Given the description of an element on the screen output the (x, y) to click on. 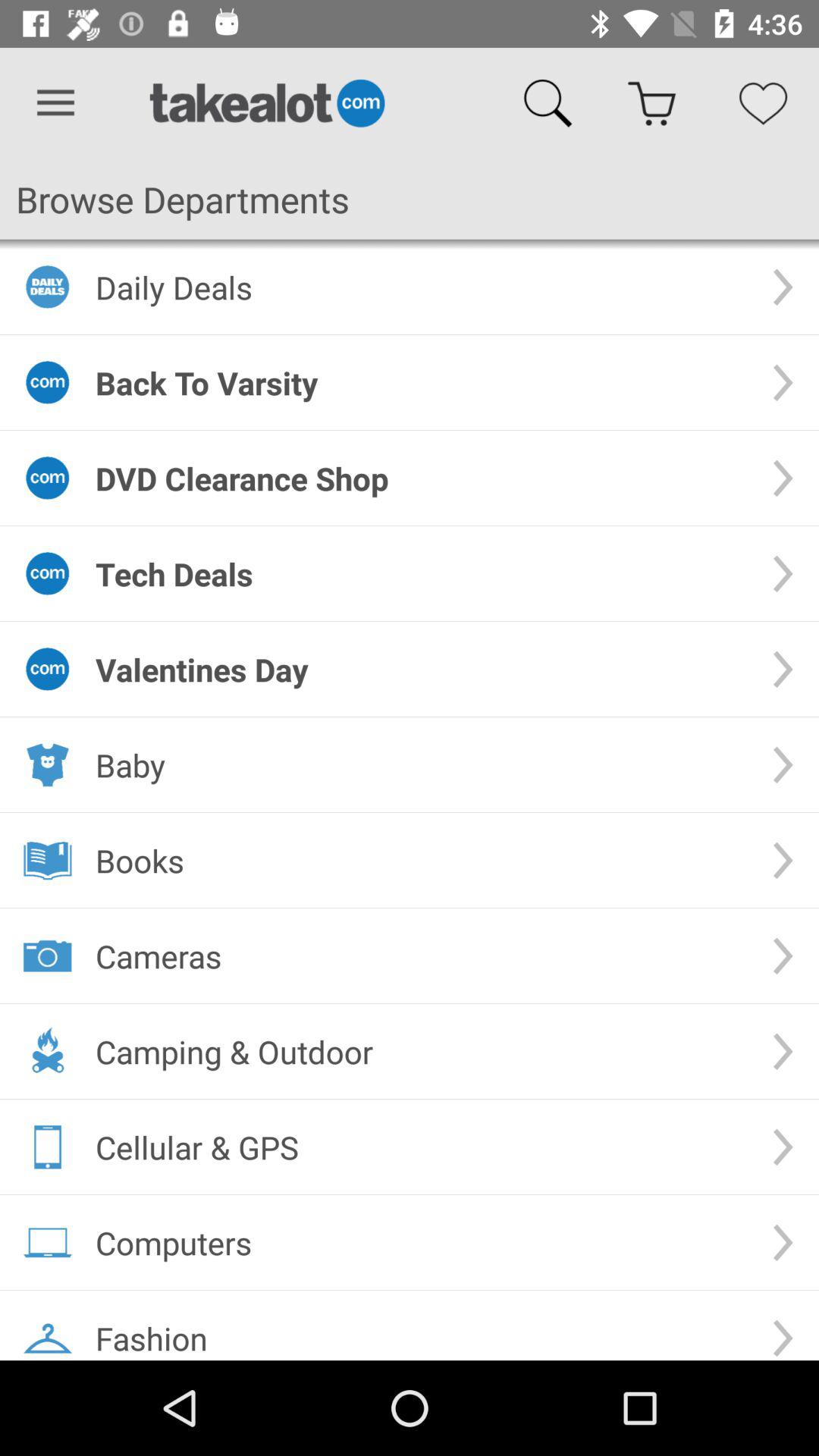
press icon above fashion (421, 1242)
